Given the description of an element on the screen output the (x, y) to click on. 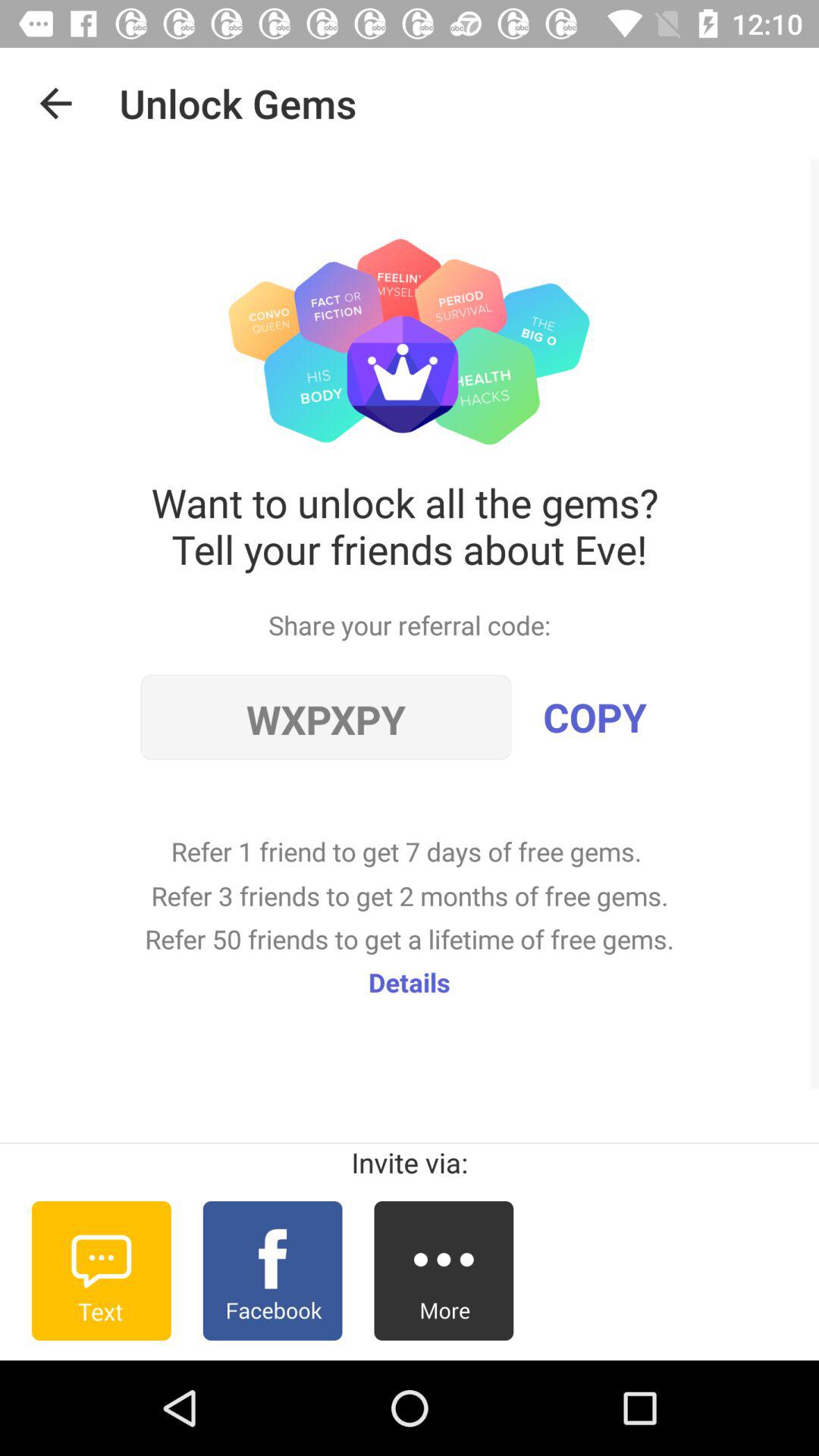
facebook link (272, 1270)
